Given the description of an element on the screen output the (x, y) to click on. 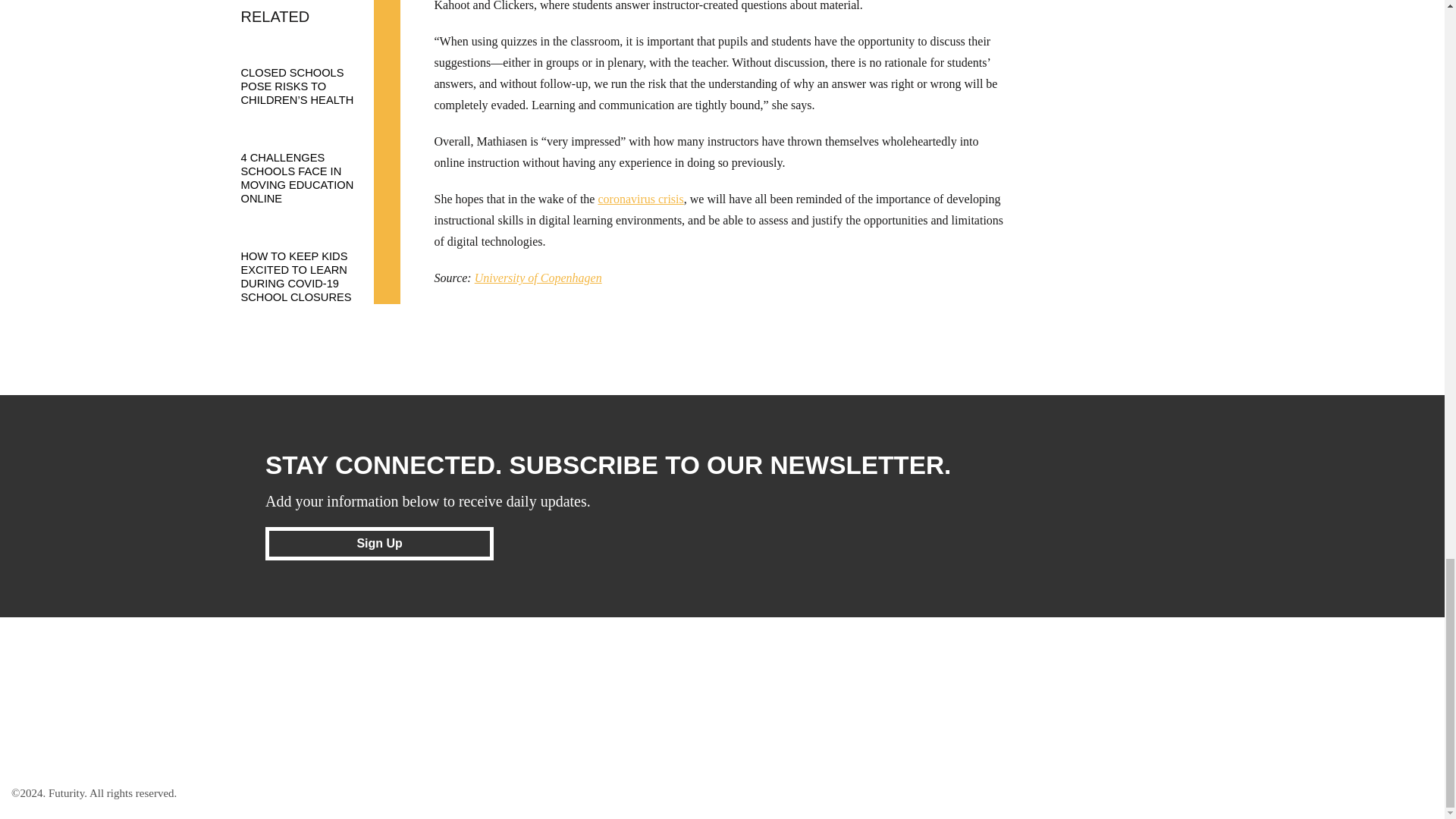
4 challenges schools face in moving education online (313, 163)
